Given the description of an element on the screen output the (x, y) to click on. 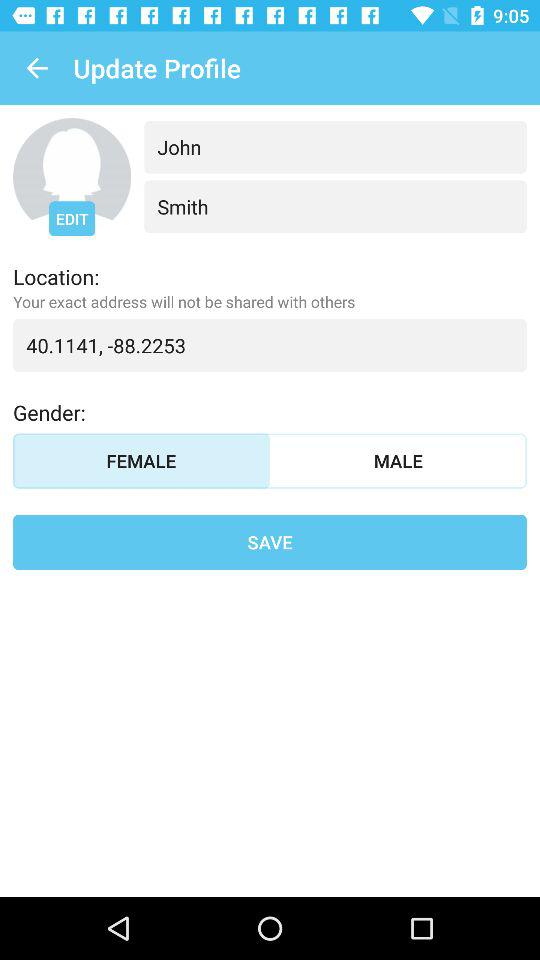
turn on the icon above the gender: (269, 345)
